Given the description of an element on the screen output the (x, y) to click on. 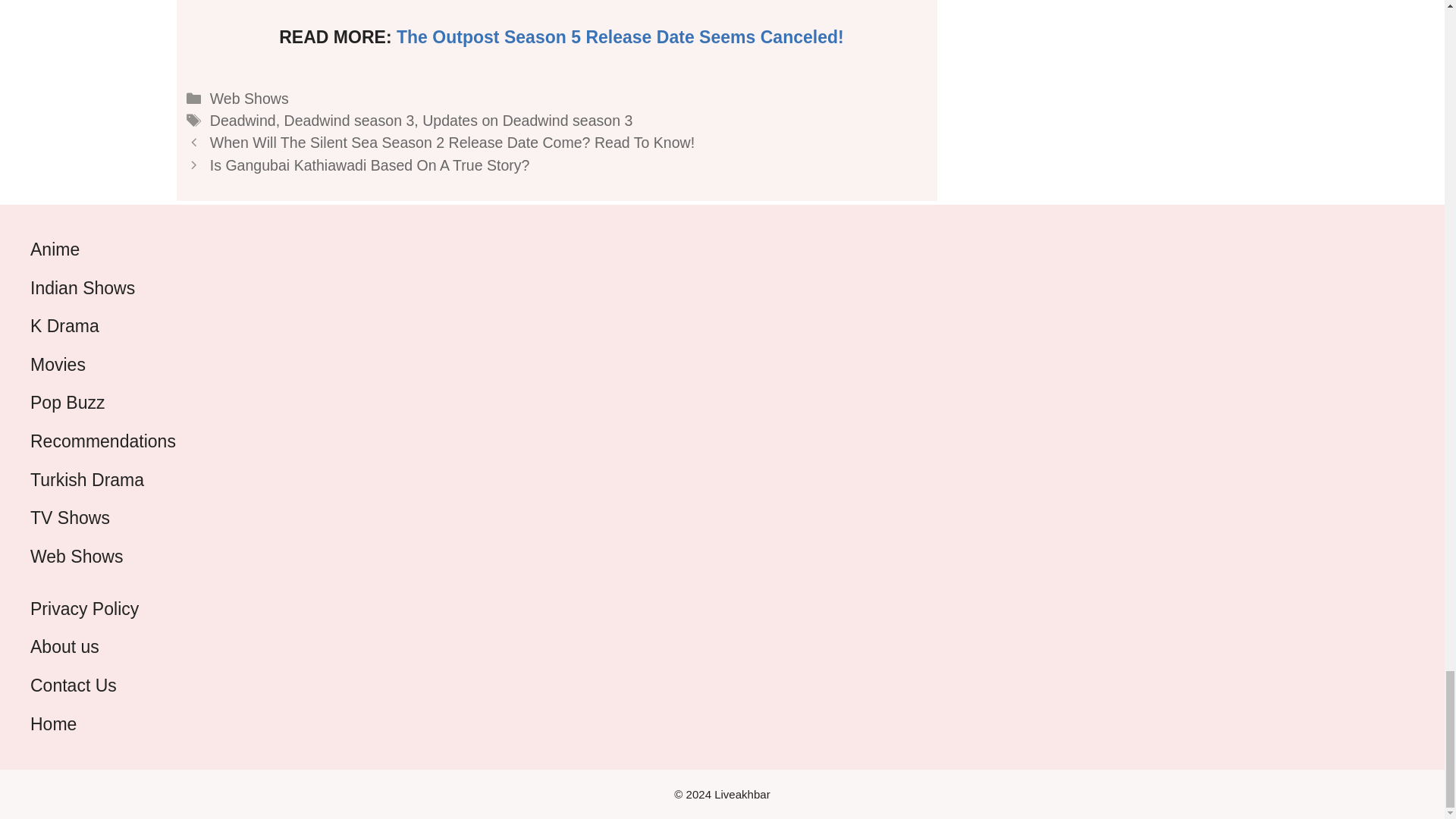
Deadwind season 3 (348, 120)
Is Gangubai Kathiawadi Based On A True Story? (369, 165)
Updates on Deadwind season 3 (526, 120)
Deadwind (242, 120)
The Outpost Season 5 Release Date Seems Canceled! (620, 36)
Web Shows (248, 98)
